Given the description of an element on the screen output the (x, y) to click on. 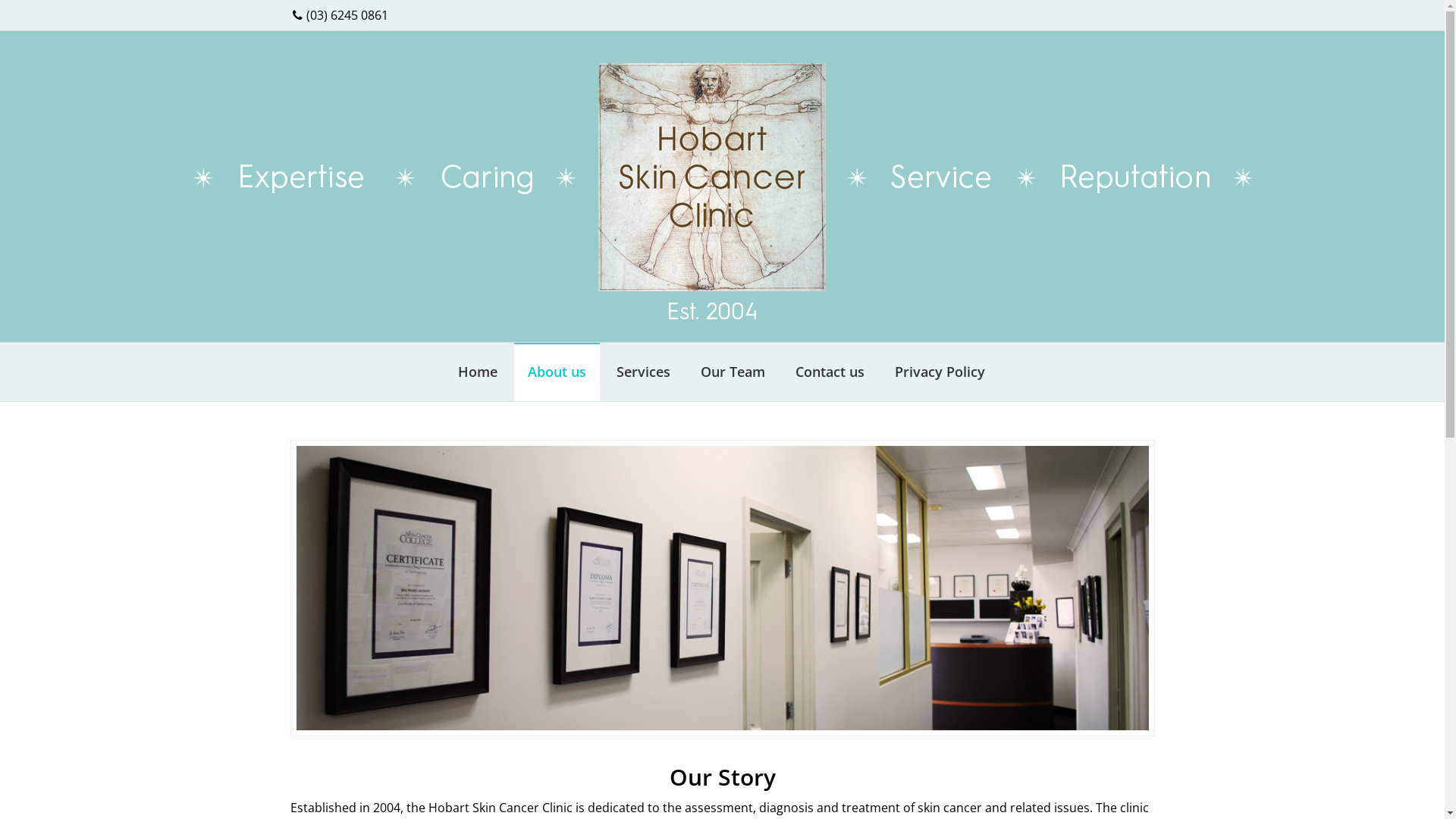
(03) 6245 0861 Element type: text (340, 14)
Home Element type: text (477, 371)
Contact us Element type: text (829, 371)
Services Element type: text (643, 371)
Our Team Element type: text (732, 371)
About us Element type: text (556, 371)
Privacy Policy Element type: text (939, 371)
